Given the description of an element on the screen output the (x, y) to click on. 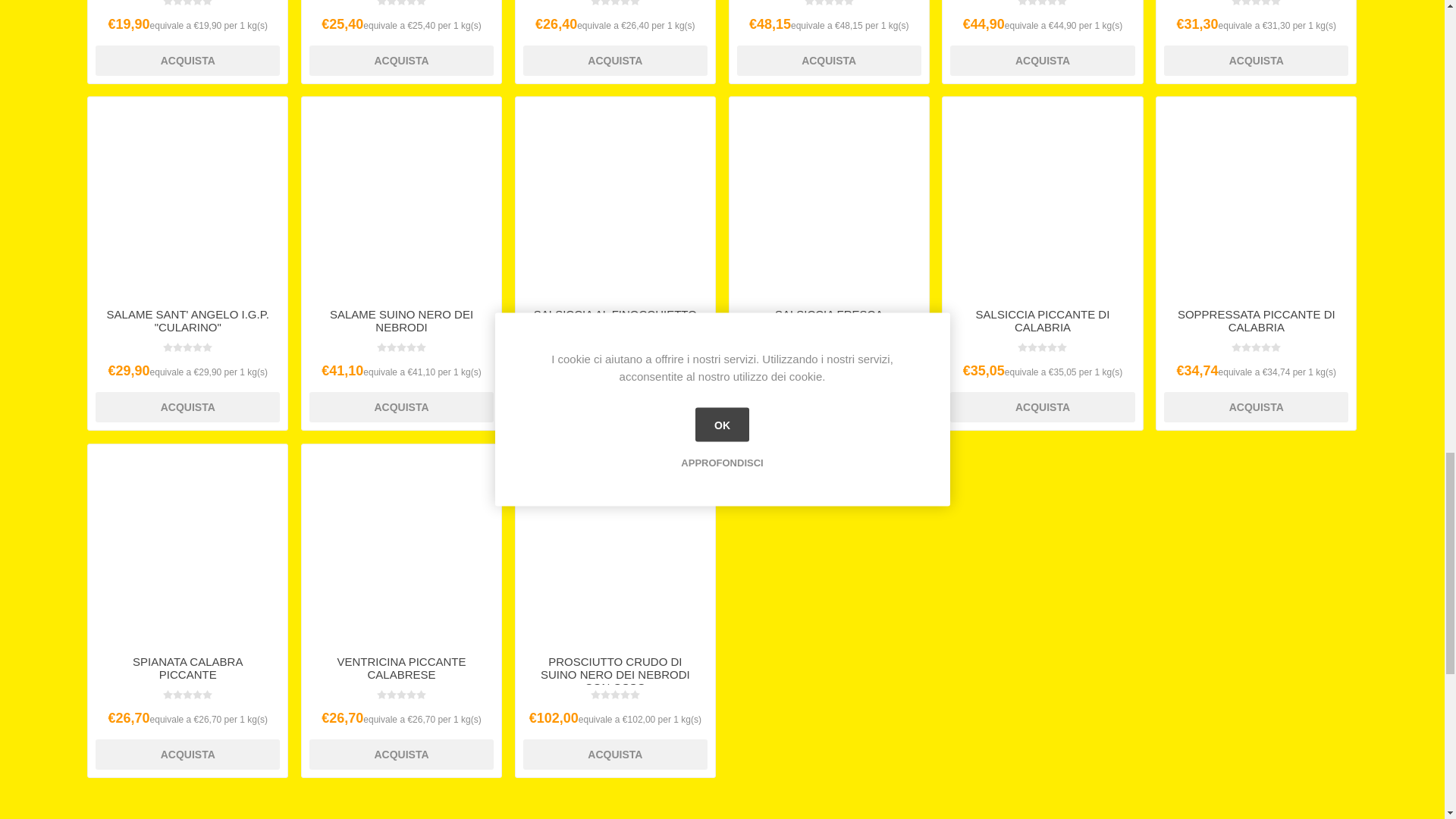
Acquista (187, 60)
Acquista (614, 60)
Acquista (400, 60)
